Given the description of an element on the screen output the (x, y) to click on. 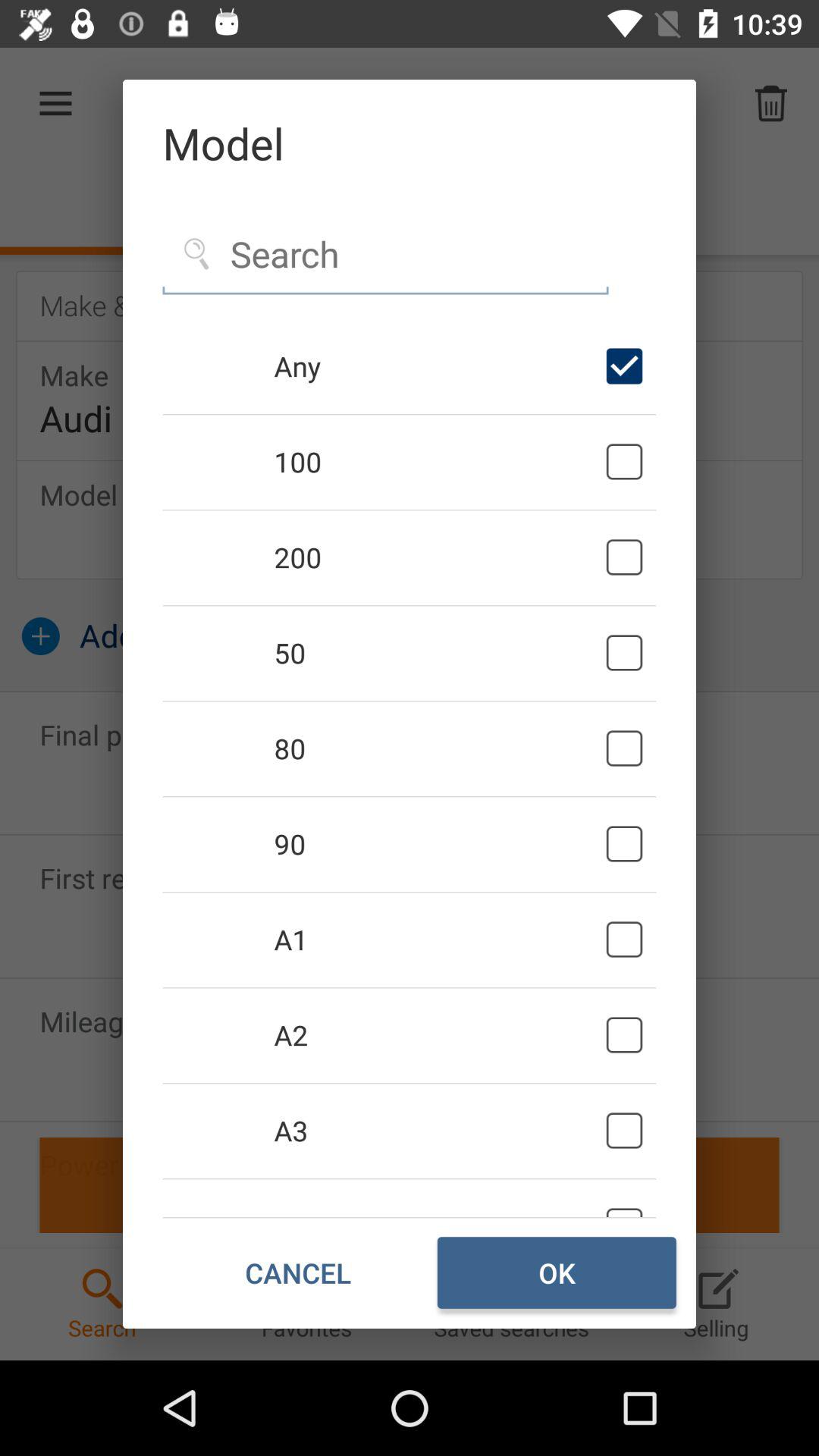
flip until 100 icon (437, 461)
